Given the description of an element on the screen output the (x, y) to click on. 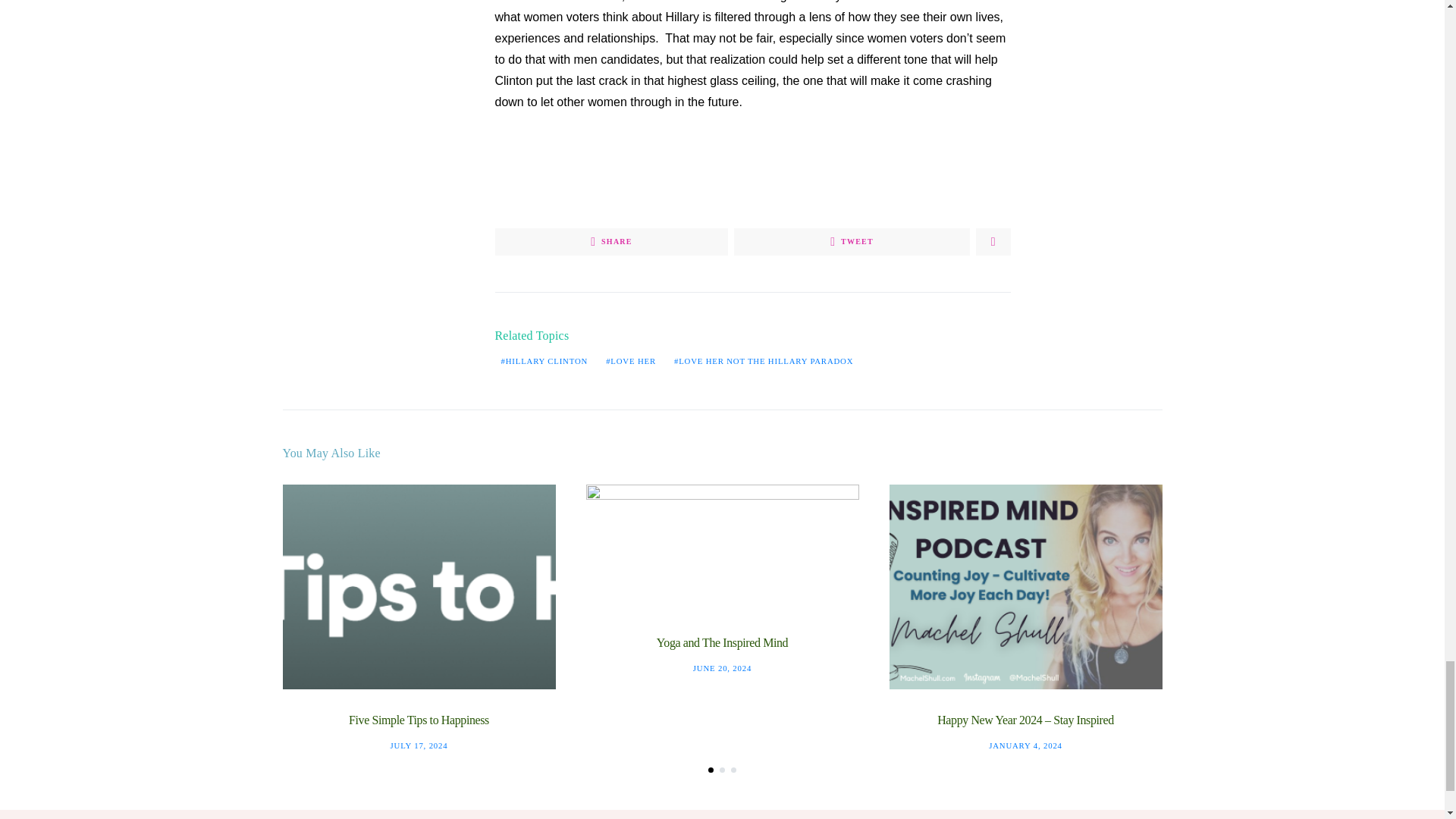
TWEET (851, 241)
SHARE (611, 241)
